Given the description of an element on the screen output the (x, y) to click on. 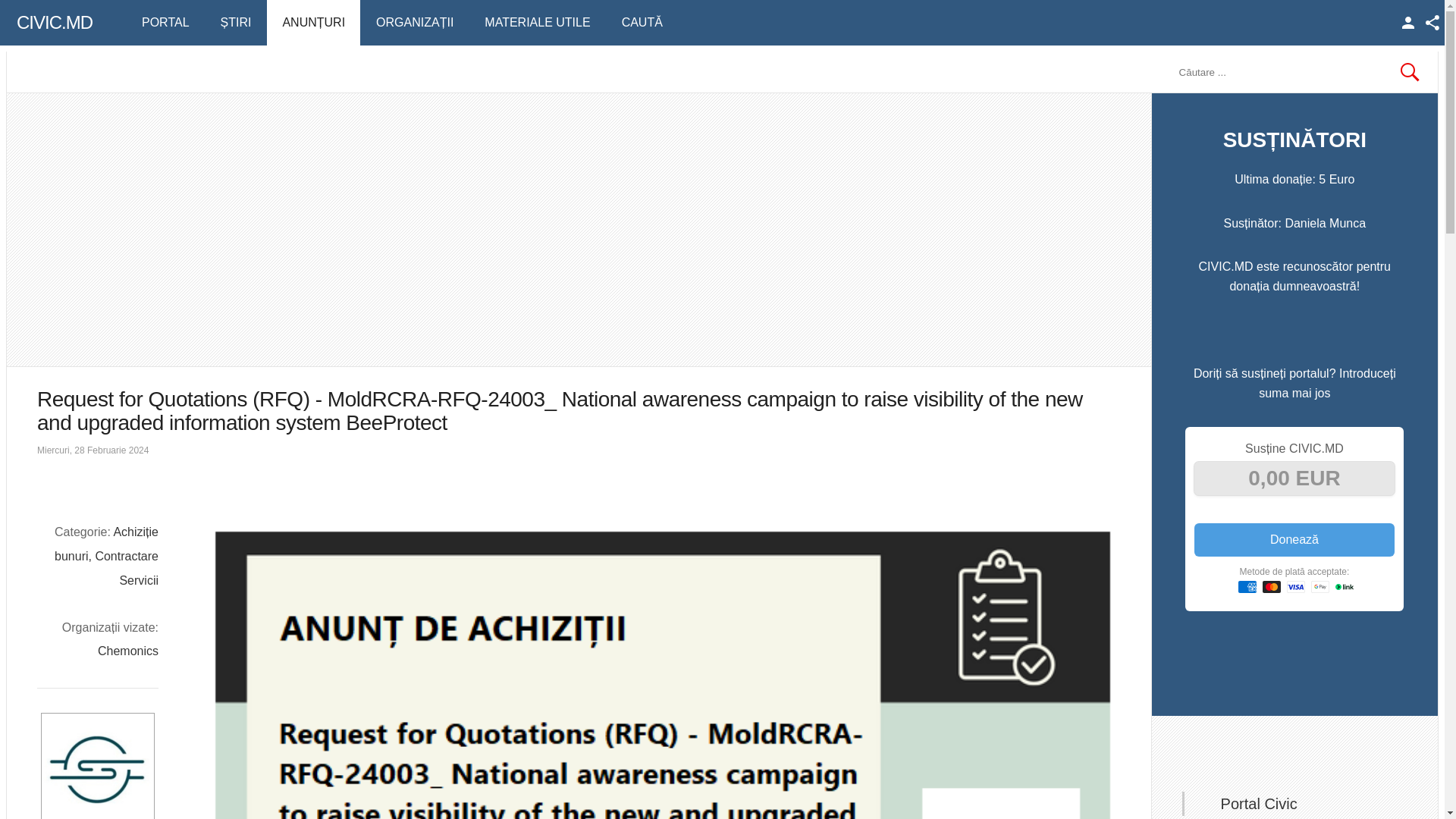
Login (1408, 22)
MATERIALE UTILE (536, 22)
CIVIC.MD (48, 22)
PORTAL (165, 22)
Safeguard Global (97, 765)
